Given the description of an element on the screen output the (x, y) to click on. 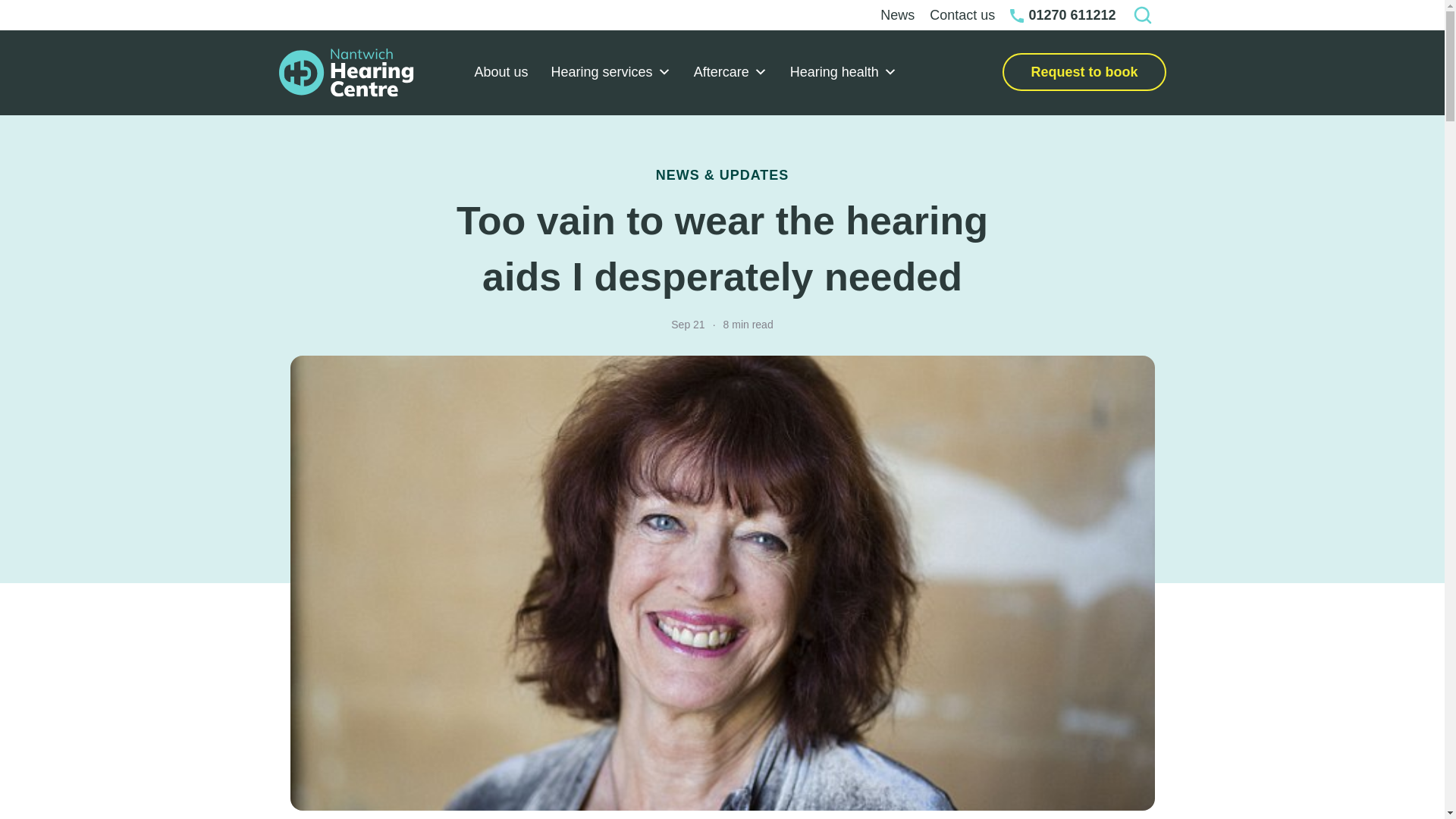
About us (500, 72)
Hearing health (843, 72)
Contact us (962, 15)
Search (1145, 15)
News (896, 15)
01270 611212 (1062, 15)
Hearing services (611, 72)
Aftercare (730, 72)
